Given the description of an element on the screen output the (x, y) to click on. 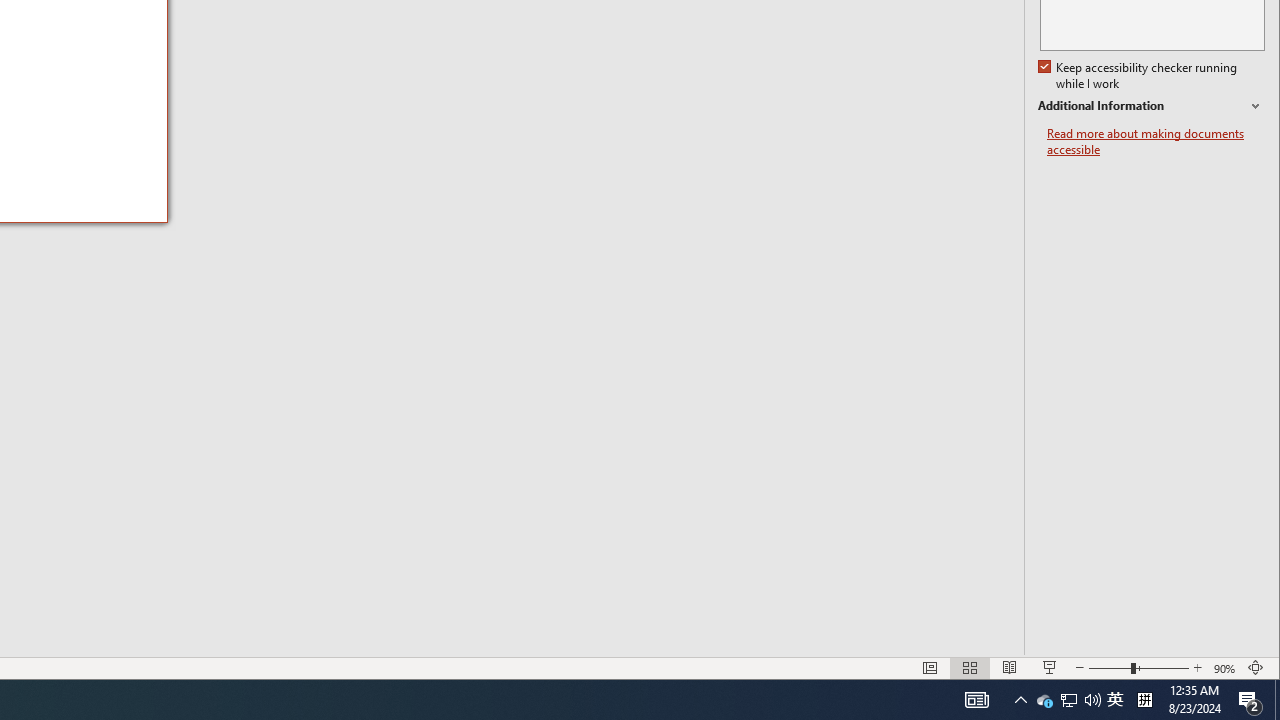
Zoom 90% (1225, 668)
